Given the description of an element on the screen output the (x, y) to click on. 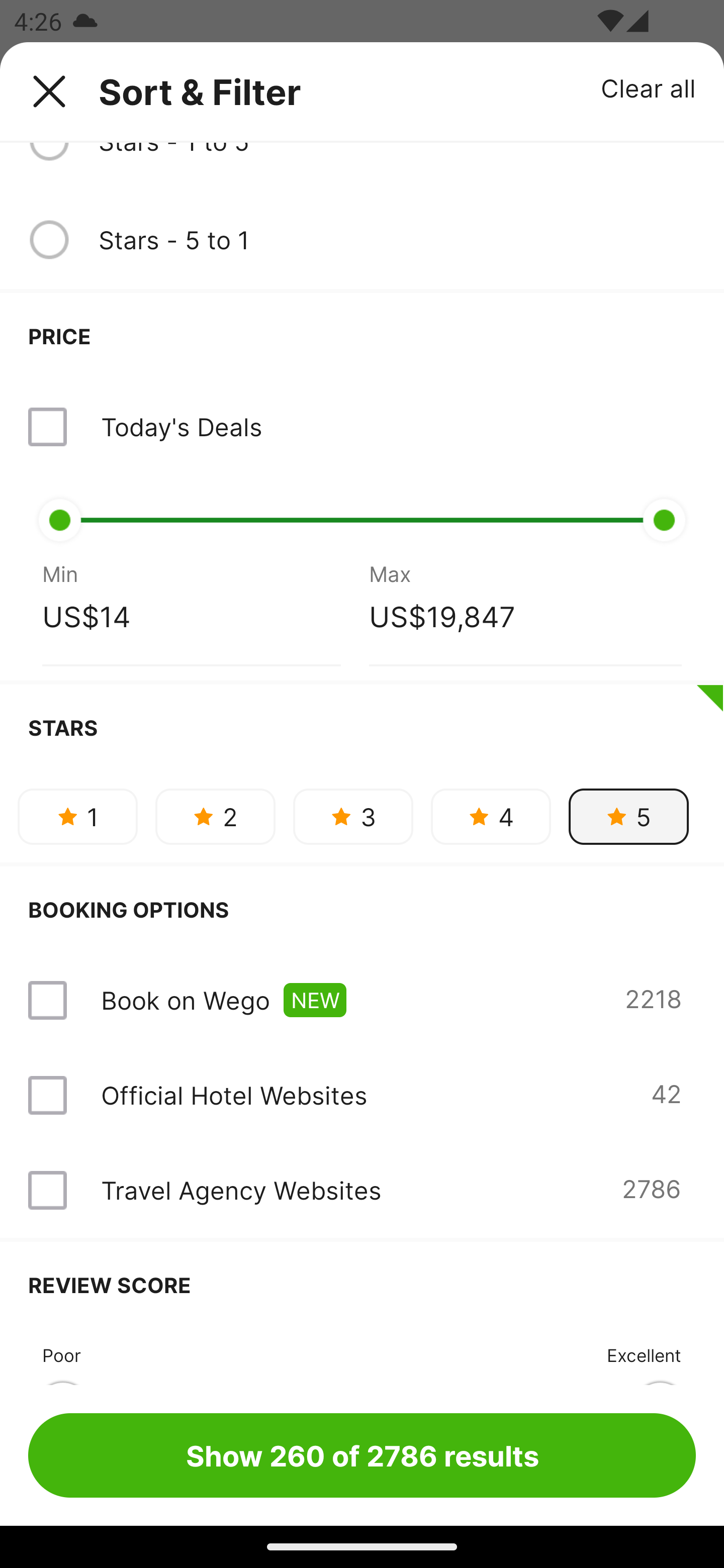
Clear all (648, 87)
Stars - 5 to 1 (396, 239)
Today's Deals (362, 427)
Today's Deals (181, 426)
1 (77, 816)
2 (214, 816)
3 (352, 816)
4 (491, 816)
5 (627, 816)
Book on Wego NEW 2218 (362, 1000)
Book on Wego (184, 1000)
Official Hotel Websites 42 (362, 1095)
Official Hotel Websites (233, 1095)
Travel Agency Websites 2786 (362, 1190)
Travel Agency Websites (240, 1189)
Poor Excellent (362, 1356)
Show 260 of 2786 results (361, 1454)
